Given the description of an element on the screen output the (x, y) to click on. 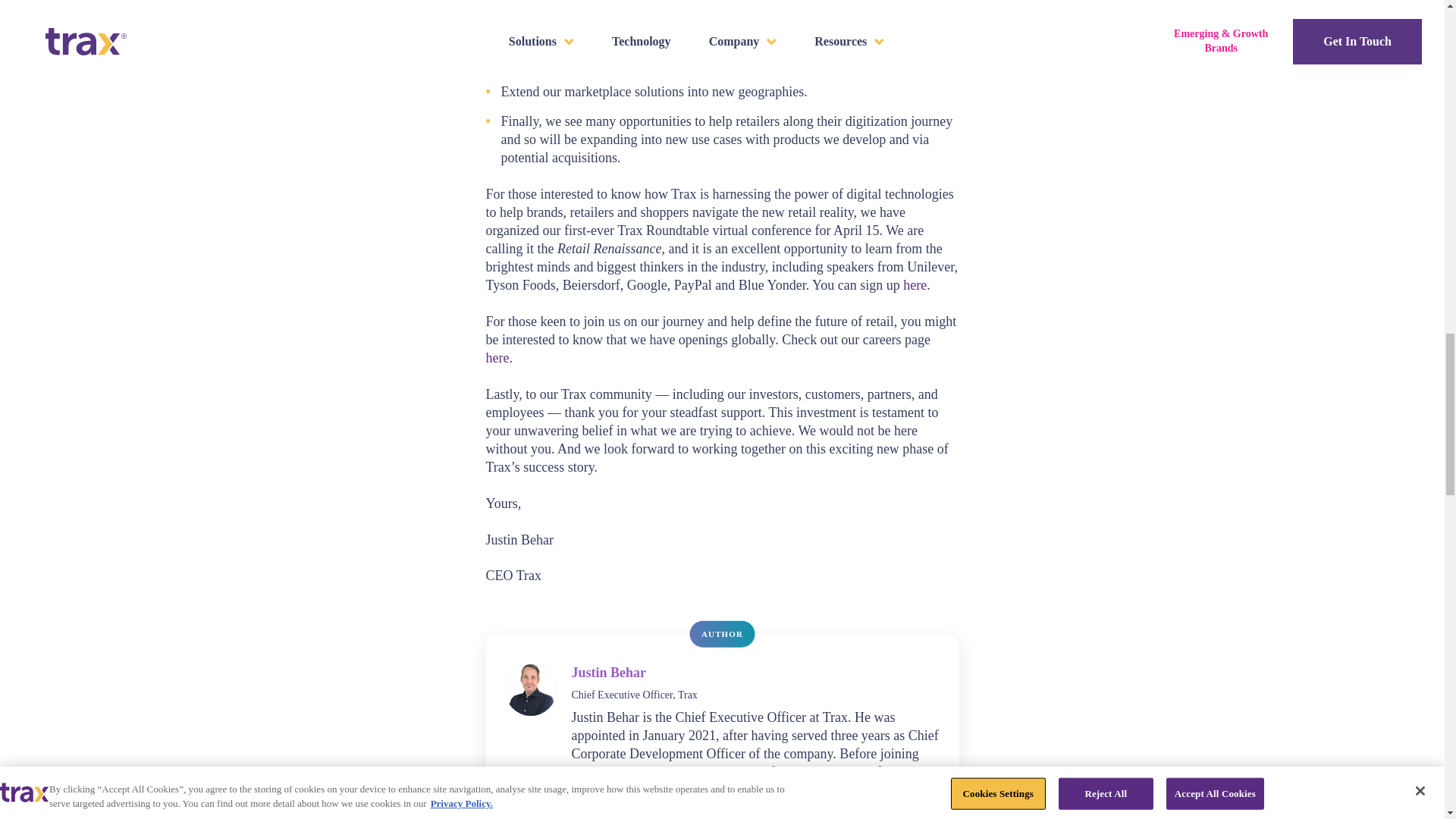
here (496, 357)
here (914, 284)
Justin Behar (609, 672)
